Given the description of an element on the screen output the (x, y) to click on. 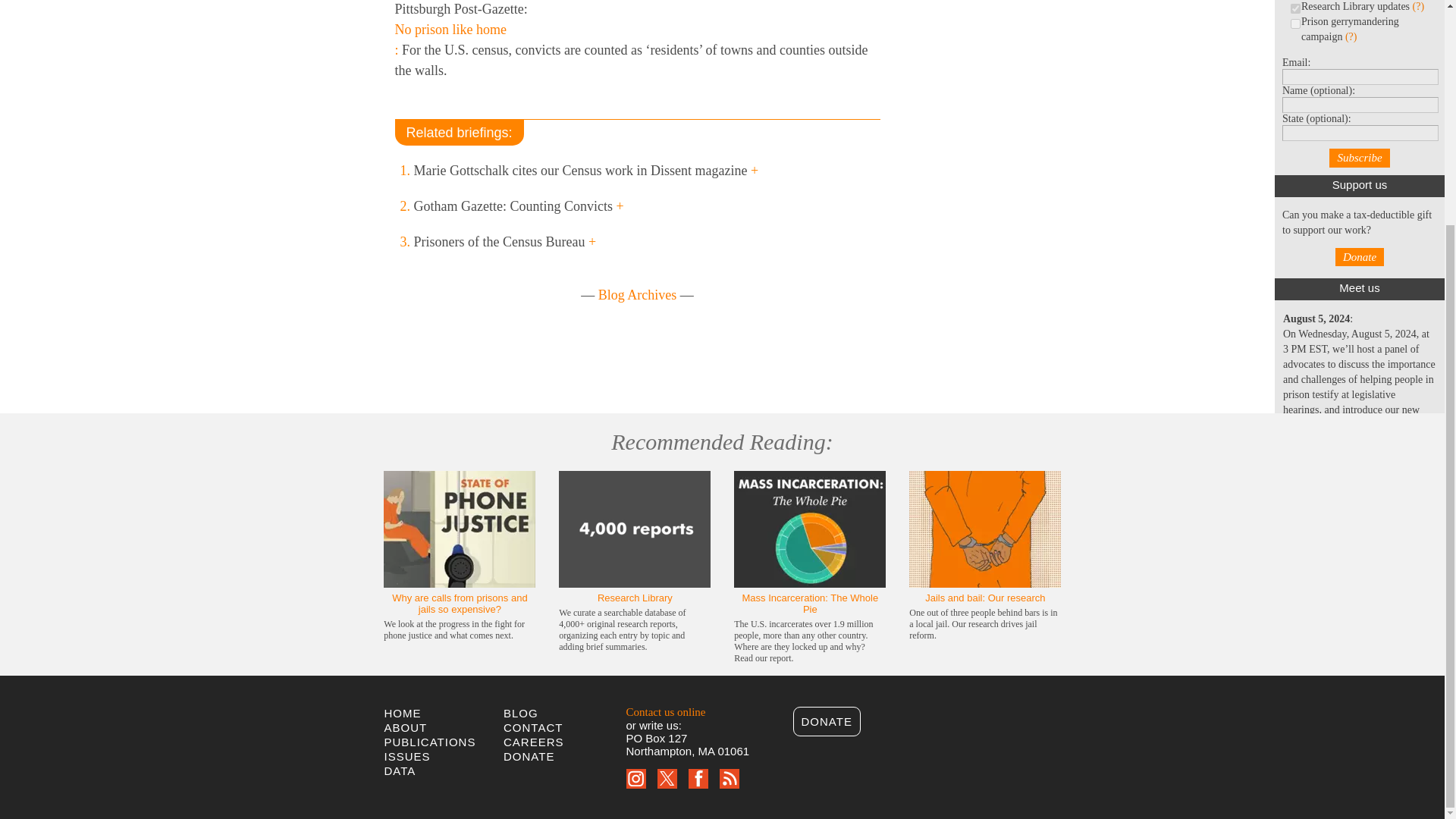
Subscribe (1359, 157)
Invite us (1300, 587)
Mass Incarceration: The Whole Pie (810, 603)
4001744 (1295, 22)
HOME (402, 712)
PUBLICATIONS (430, 741)
BLOG (520, 712)
Why are calls from prisons and jails so expensive? (459, 603)
legislative testimony toolkit (1341, 423)
ISSUES (406, 756)
Jails and bail: Our research (984, 597)
CAREERS (533, 741)
Blog Archives (637, 294)
CONTACT (532, 727)
